Given the description of an element on the screen output the (x, y) to click on. 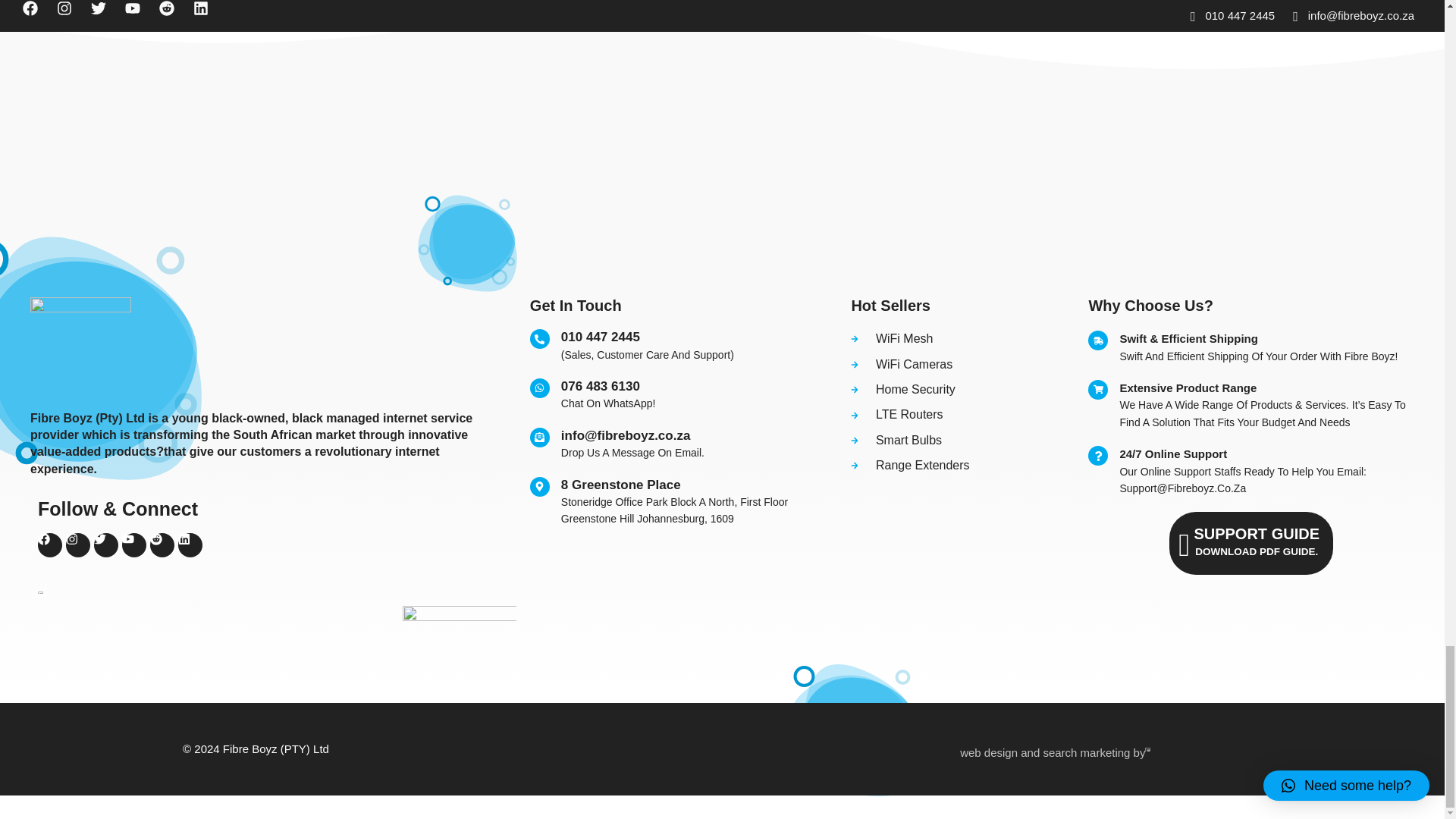
Why Choose Us? (1250, 306)
Get In Touch (677, 305)
web design and search marketing by (677, 395)
Hot Sellers (816, 749)
